Given the description of an element on the screen output the (x, y) to click on. 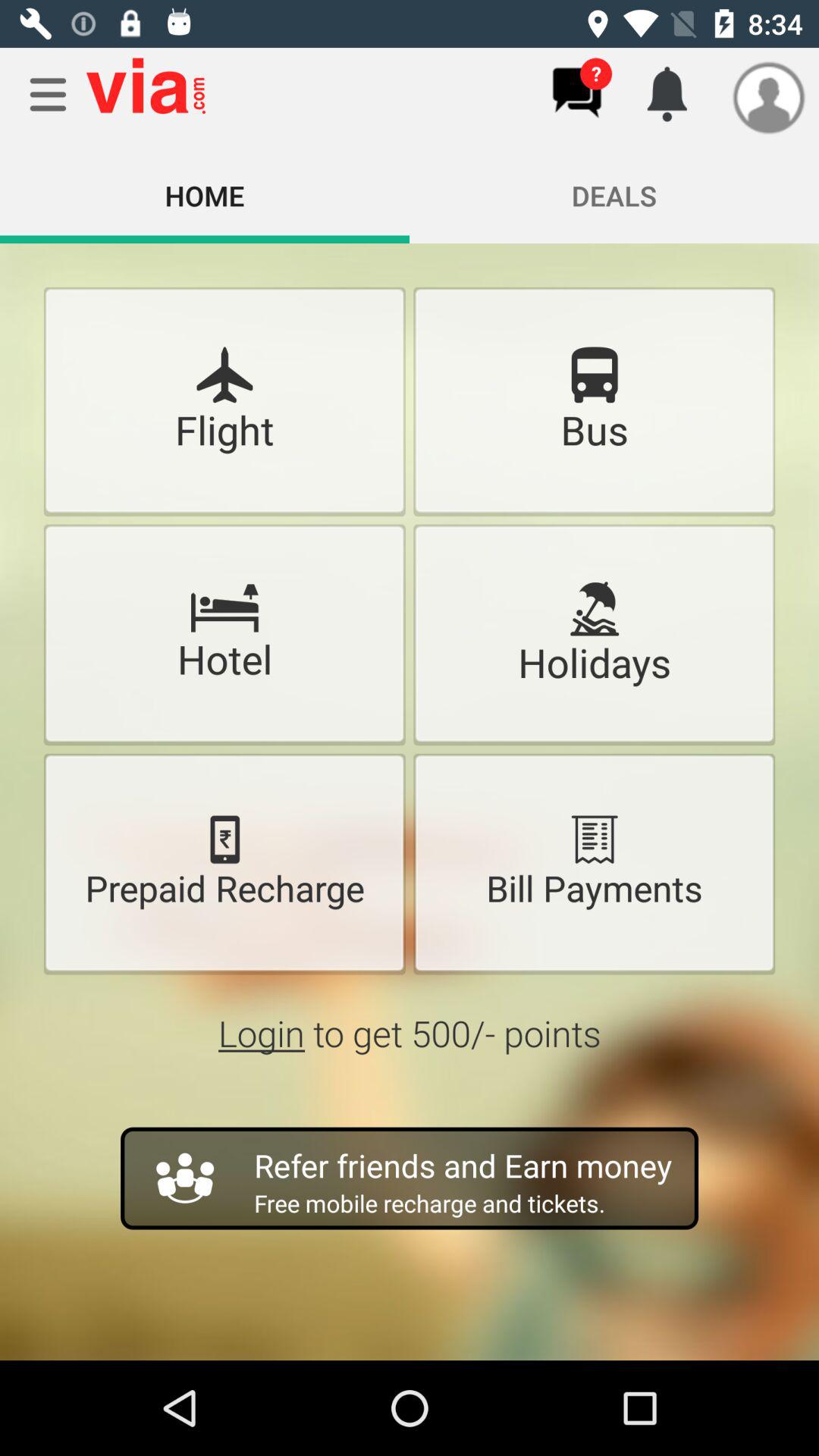
click the icon which is beside the notification icon (765, 98)
click menu (48, 95)
click the bill payments icon (593, 839)
click the message icon (576, 93)
